Given the description of an element on the screen output the (x, y) to click on. 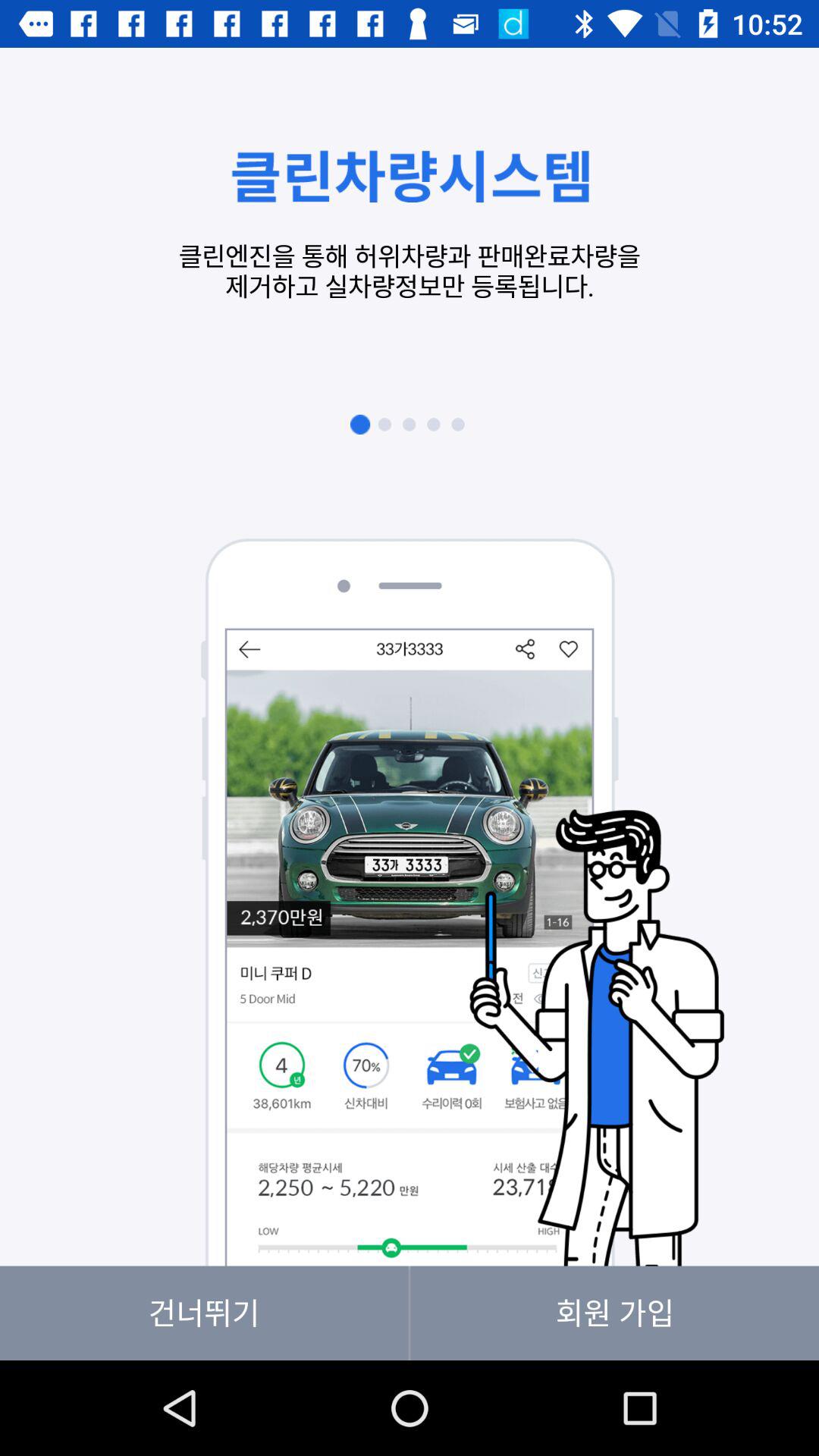
press item at the bottom right corner (614, 1313)
